Given the description of an element on the screen output the (x, y) to click on. 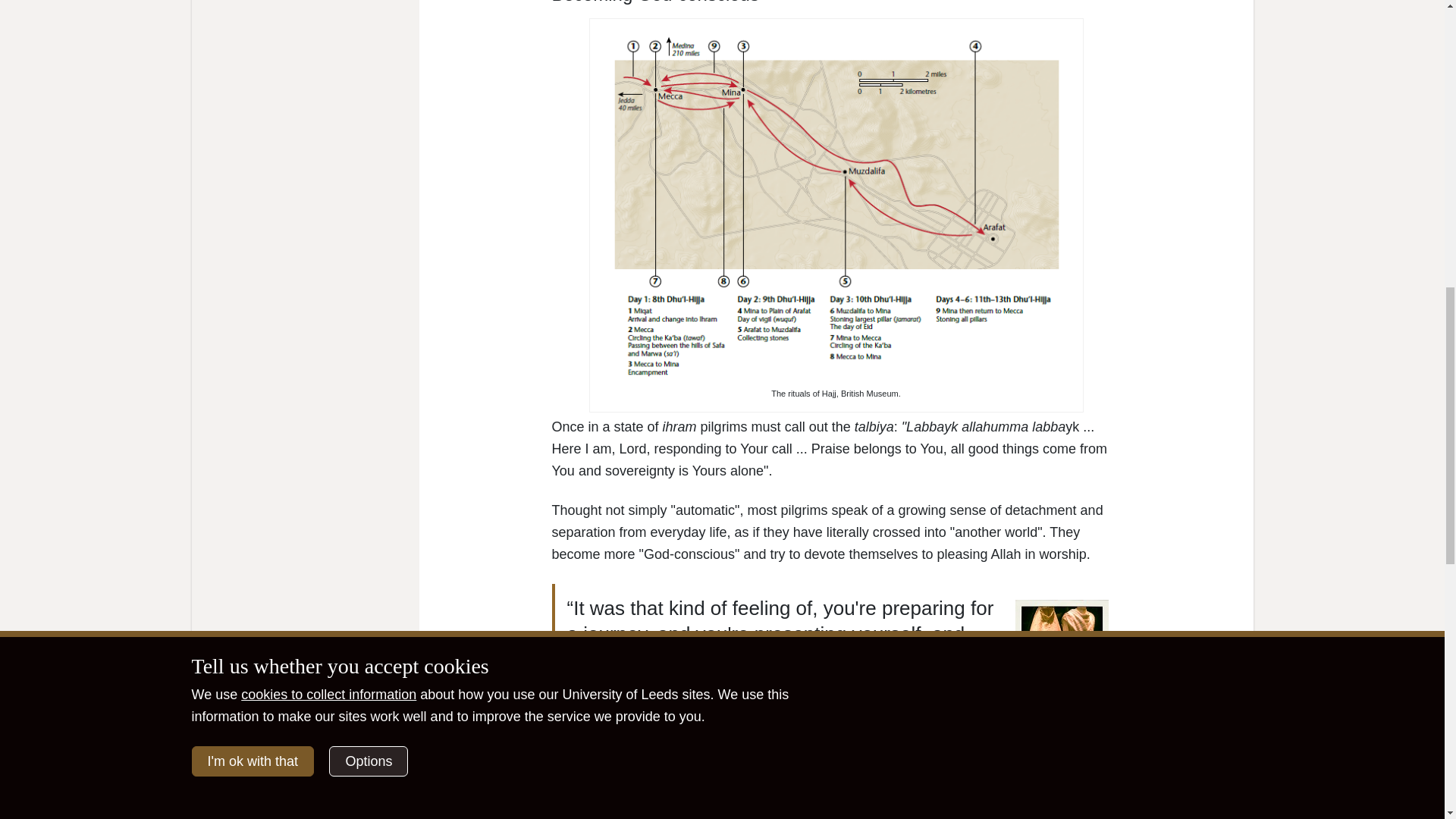
Mute (1058, 802)
Play (571, 802)
